Given the description of an element on the screen output the (x, y) to click on. 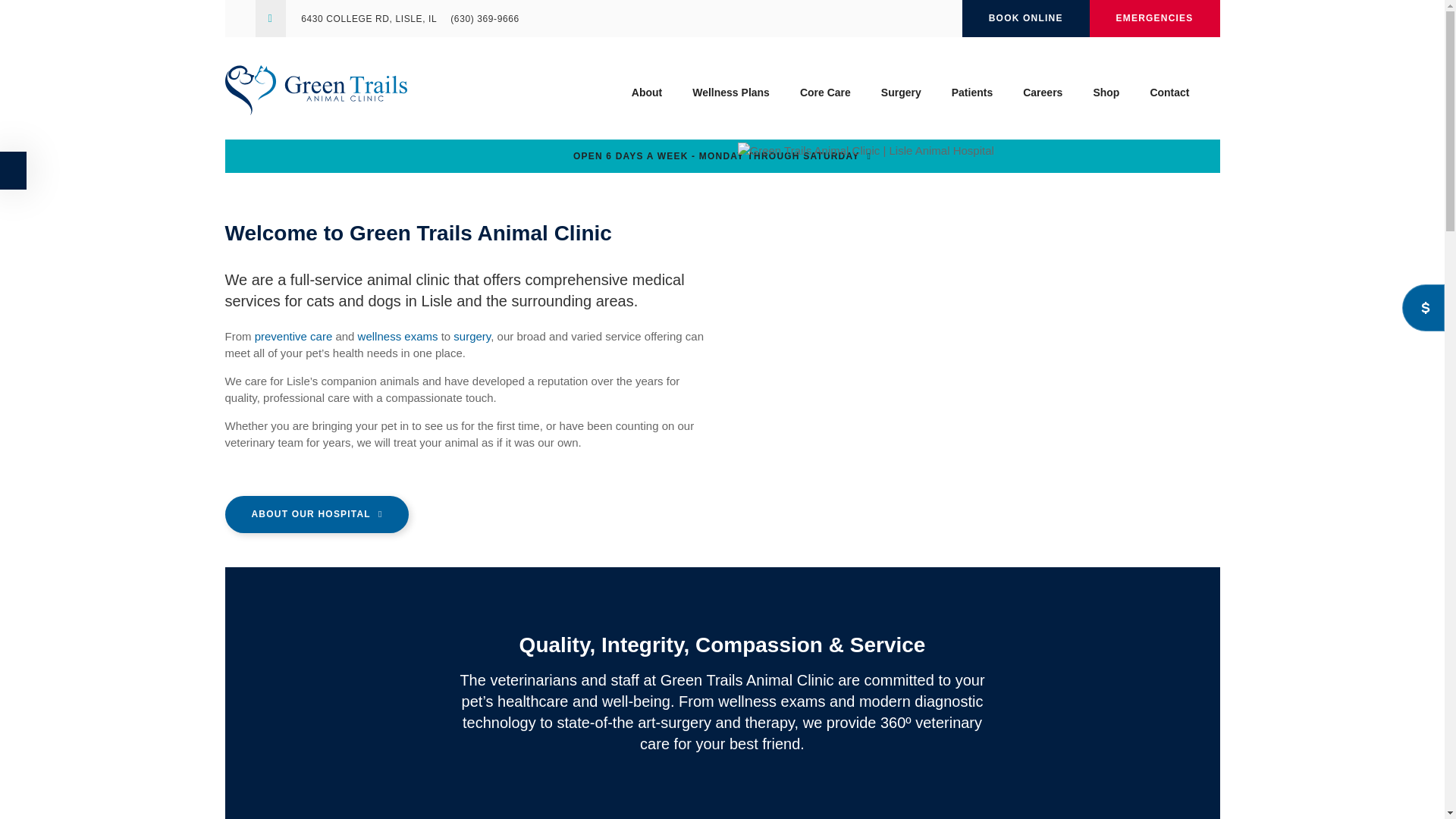
BOOK ONLINE (1025, 18)
EMERGENCIES (1154, 18)
6430 COLLEGE RD LISLE IL (368, 18)
